Given the description of an element on the screen output the (x, y) to click on. 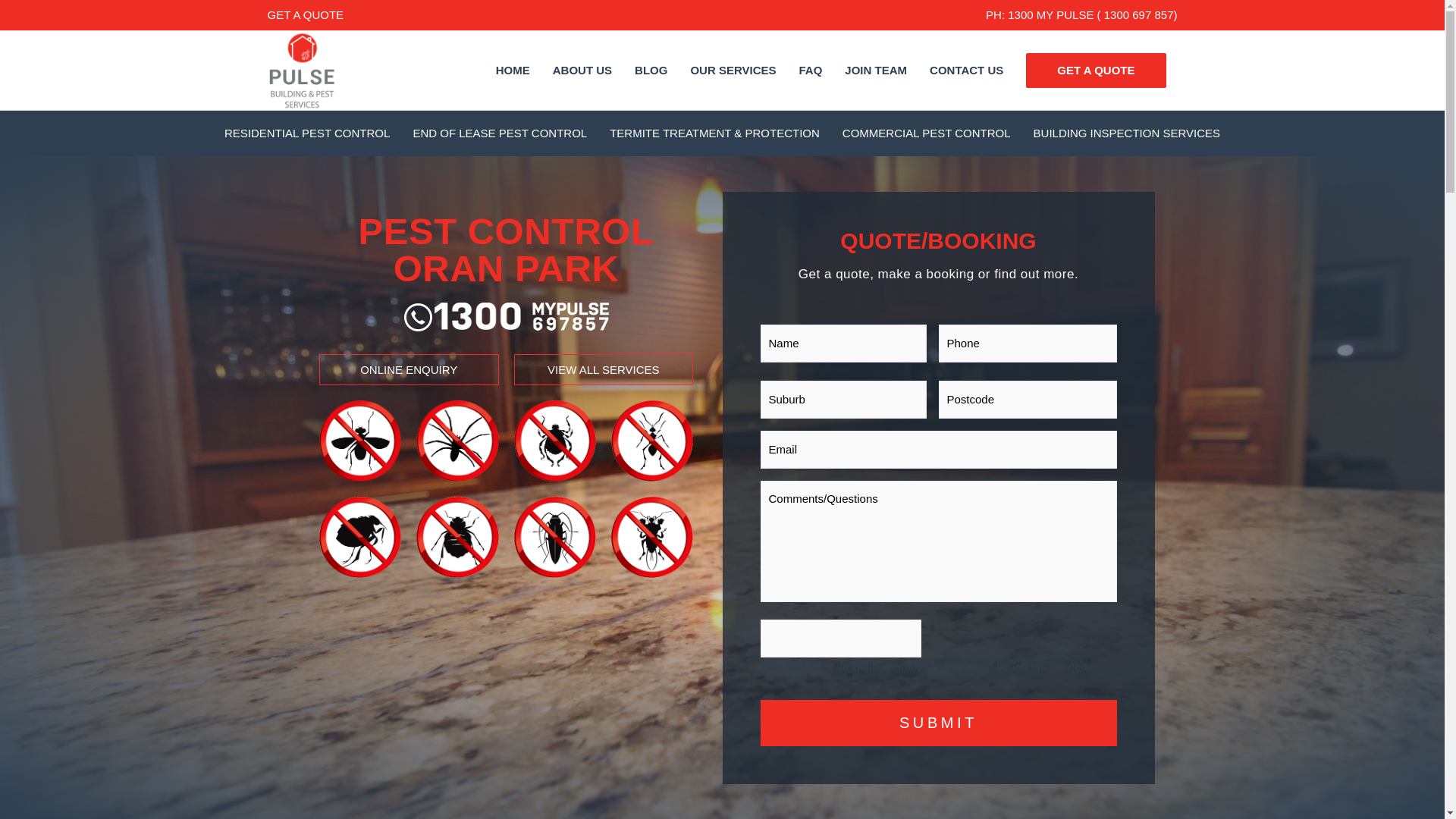
FAQ (810, 69)
GET A QUOTE (304, 14)
OUR SERVICES (732, 69)
BUILDING INSPECTION SERVICES (1126, 133)
HOME (512, 69)
JOIN TEAM (875, 69)
RESIDENTIAL PEST CONTROL (306, 133)
GET A QUOTE (1096, 70)
ABOUT US (582, 69)
END OF LEASE PEST CONTROL (499, 133)
GET A QUOTE (1096, 69)
CONTACT US (966, 69)
COMMERCIAL PEST CONTROL (926, 133)
ONLINE ENQUIRY (407, 368)
Submit (938, 723)
